Given the description of an element on the screen output the (x, y) to click on. 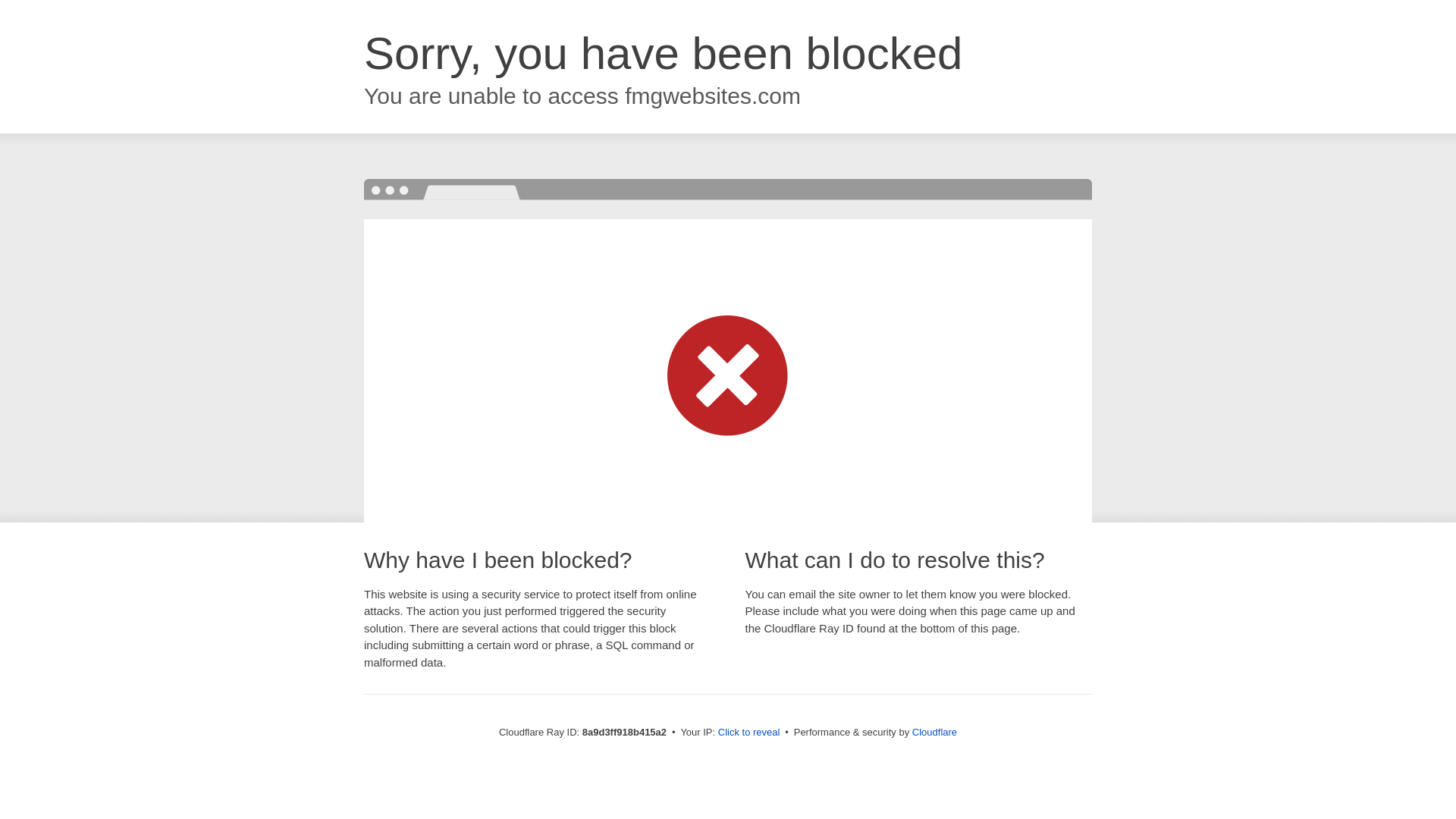
Cloudflare (934, 731)
Click to reveal (748, 732)
